Given the description of an element on the screen output the (x, y) to click on. 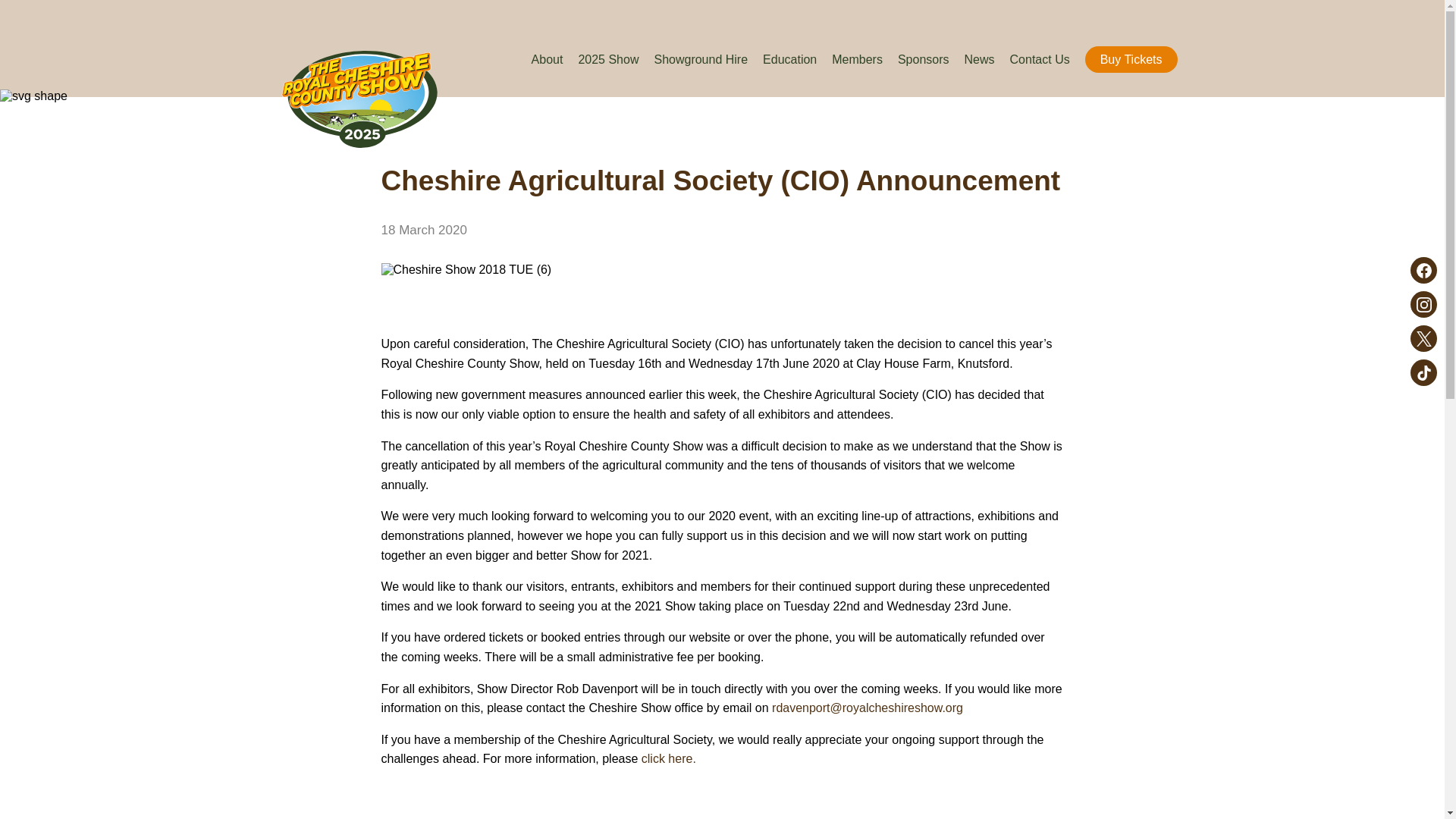
About (547, 59)
Showground Hire (700, 59)
News (978, 59)
click here. (668, 758)
2025 Show (608, 59)
Sponsors (923, 59)
Education (789, 59)
Members (856, 59)
Buy Tickets (1130, 58)
2025 Show (608, 59)
